Given the description of an element on the screen output the (x, y) to click on. 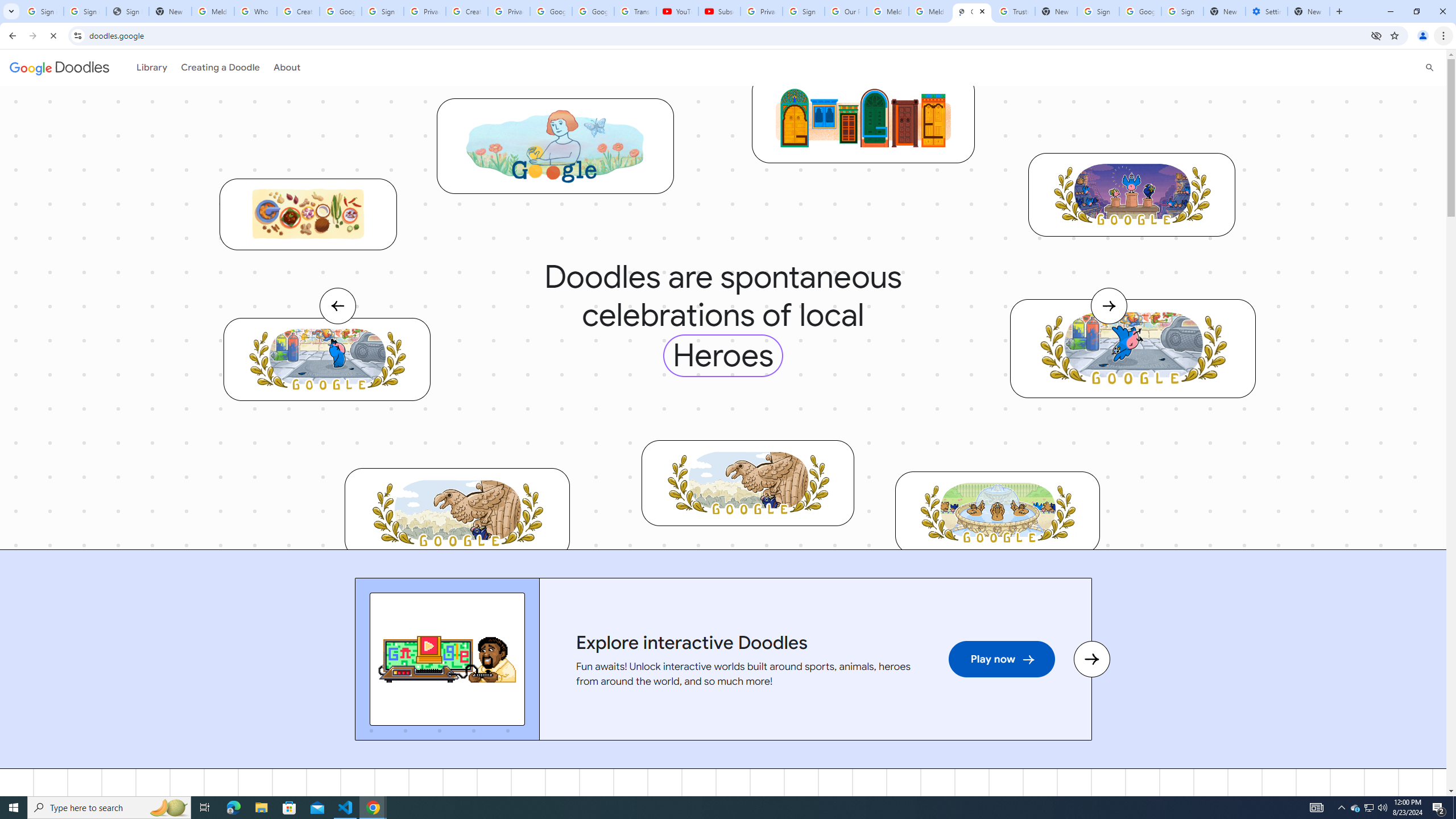
Trusted Information and Content - Google Safety Center (1013, 11)
Previous slide (354, 659)
Play now (1001, 659)
Who is my administrator? - Google Account Help (255, 11)
Google Cybersecurity Innovations - Google Safety Center (1139, 11)
